Given the description of an element on the screen output the (x, y) to click on. 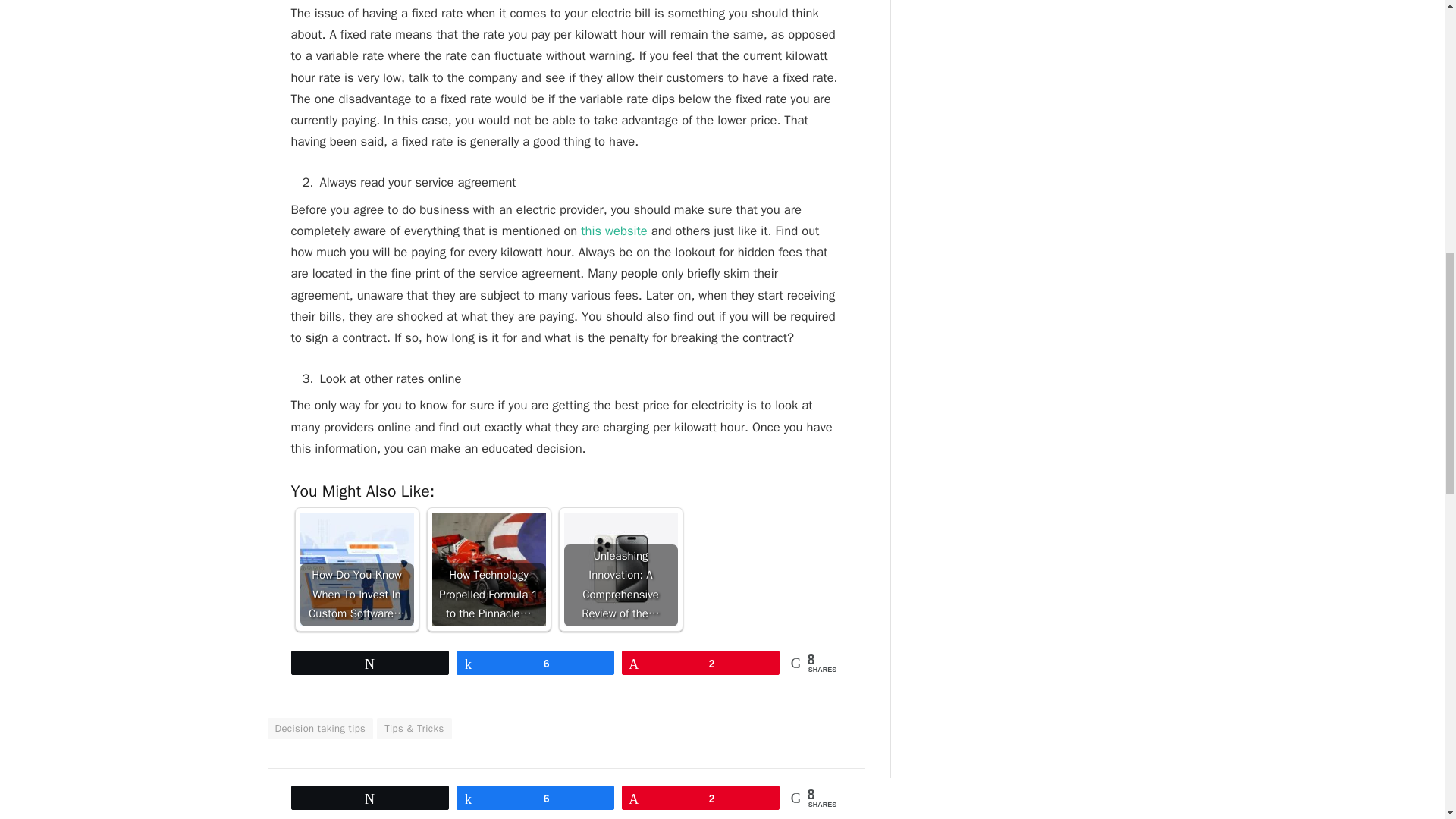
Posts by Santosh (381, 802)
Decision taking tips (319, 728)
6 (534, 662)
Santosh (381, 802)
2 (700, 662)
this website (613, 230)
